Given the description of an element on the screen output the (x, y) to click on. 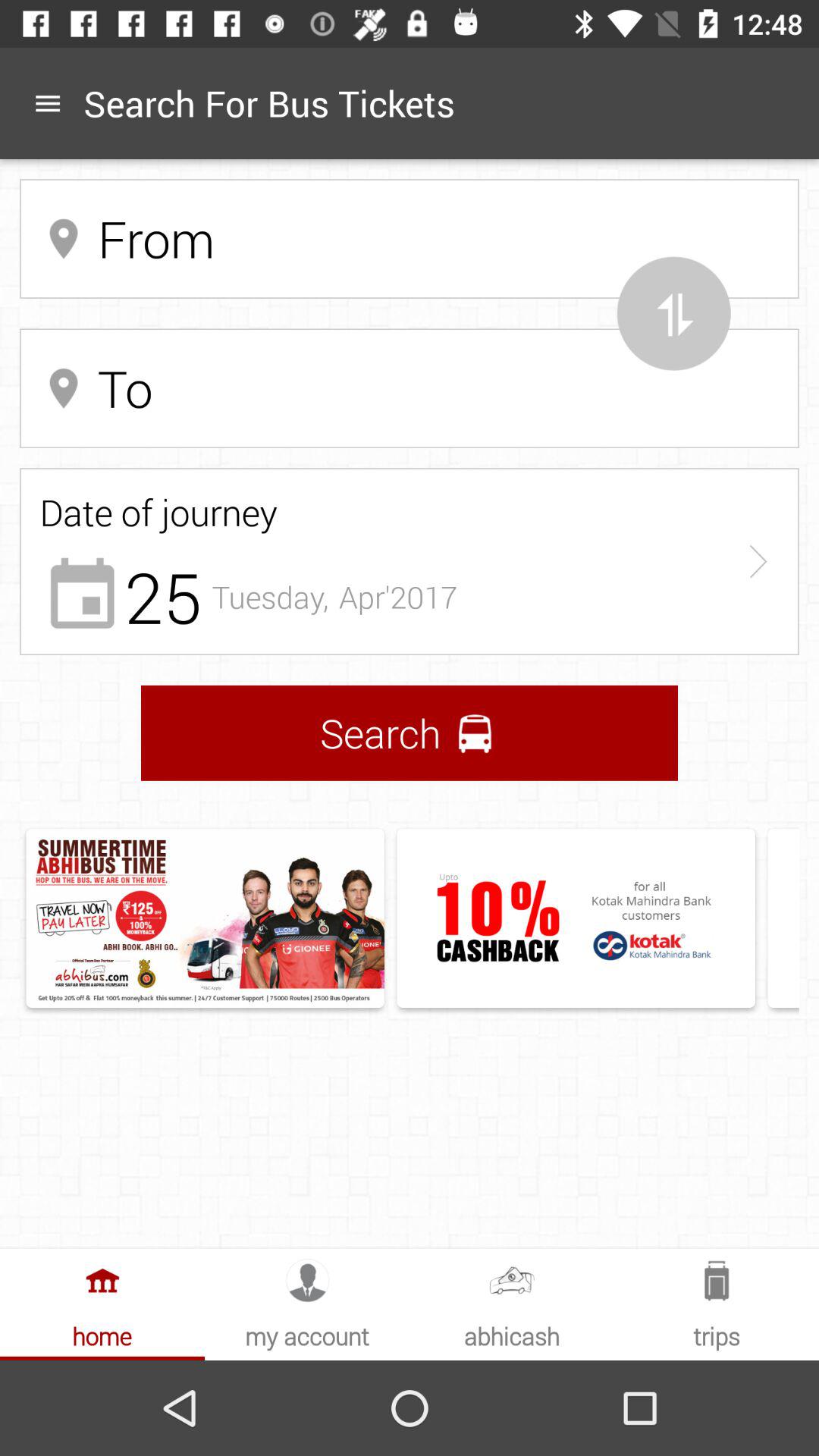
click on the right scroll icon (757, 561)
select the second image under the search (576, 917)
select the icon above the abhicash (512, 1280)
select the complete image to the left of 10 cashback image (204, 918)
click on the calender icon which is below the date of journey (82, 592)
